Given the description of an element on the screen output the (x, y) to click on. 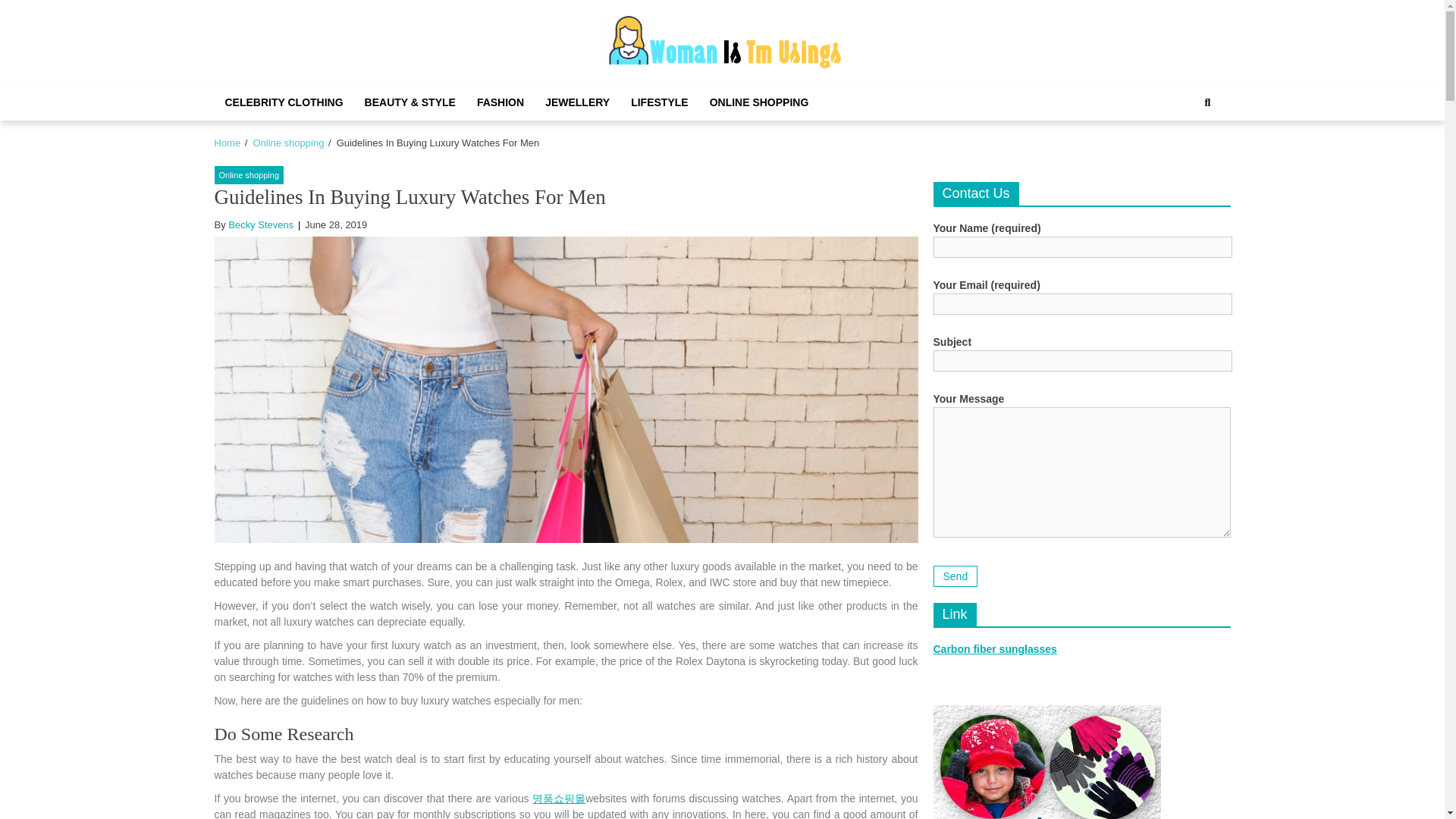
Home (227, 142)
Carbon fiber sunglasses (995, 648)
Womanist Musings (734, 86)
Online shopping (248, 175)
JEWELLERY (577, 102)
Send (954, 576)
Online shopping (287, 142)
ONLINE SHOPPING (758, 102)
FASHION (499, 102)
Send (954, 576)
Becky Stevens (261, 224)
LIFESTYLE (659, 102)
CELEBRITY CLOTHING (283, 102)
Search (1191, 153)
Search (1207, 102)
